Given the description of an element on the screen output the (x, y) to click on. 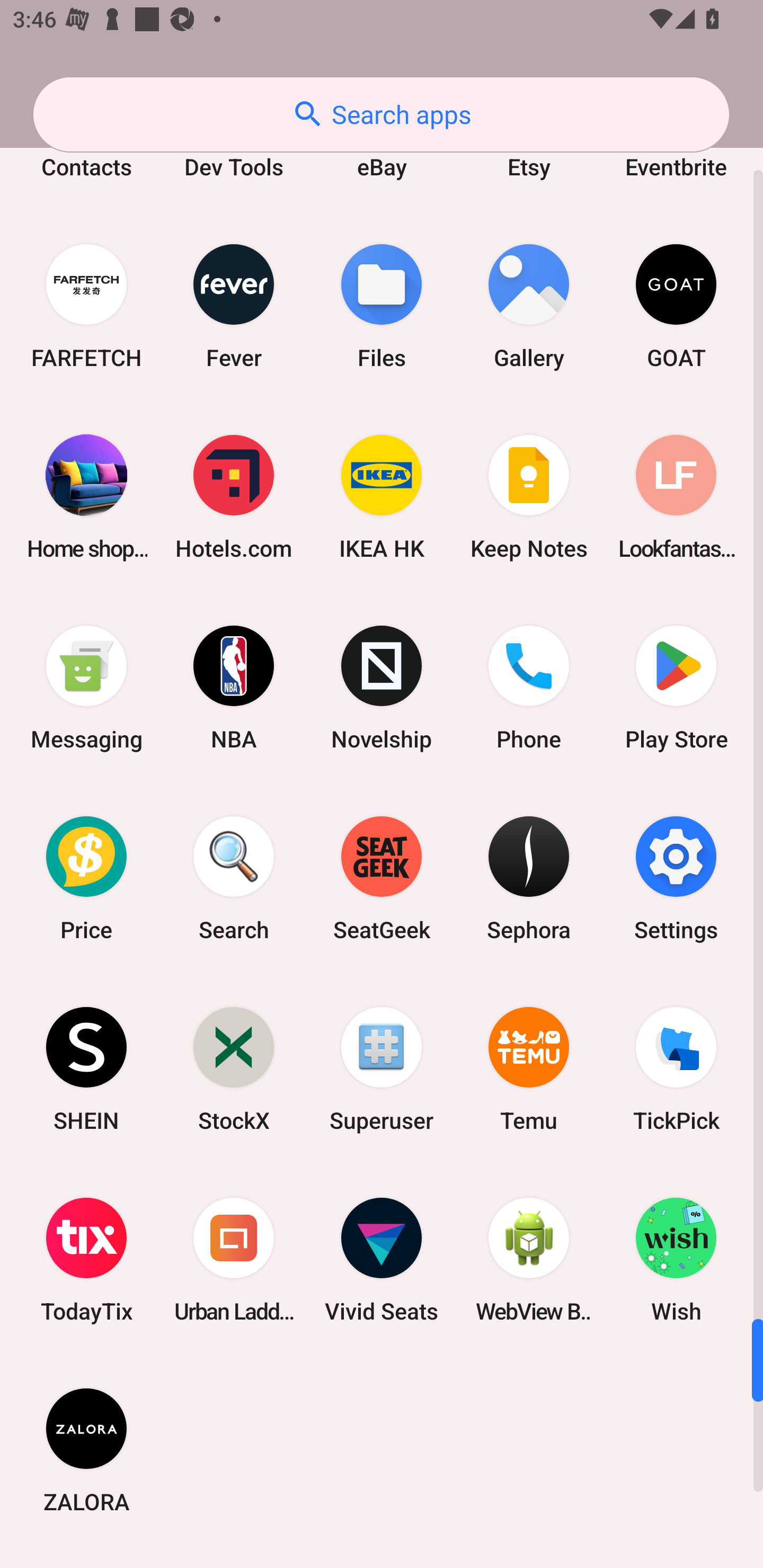
  Search apps (381, 114)
FARFETCH (86, 305)
Fever (233, 305)
Files (381, 305)
Gallery (528, 305)
GOAT (676, 305)
Home shopping (86, 496)
Hotels.com (233, 496)
IKEA HK (381, 496)
Keep Notes (528, 496)
Lookfantastic (676, 496)
Messaging (86, 687)
NBA (233, 687)
Novelship (381, 687)
Phone (528, 687)
Play Store (676, 687)
Price (86, 877)
Search (233, 877)
SeatGeek (381, 877)
Sephora (528, 877)
Settings (676, 877)
SHEIN (86, 1069)
StockX (233, 1069)
Superuser (381, 1069)
Temu (528, 1069)
TickPick (676, 1069)
TodayTix (86, 1259)
Urban Ladder (233, 1259)
Vivid Seats (381, 1259)
WebView Browser Tester (528, 1259)
Wish (676, 1259)
ZALORA (86, 1450)
